Given the description of an element on the screen output the (x, y) to click on. 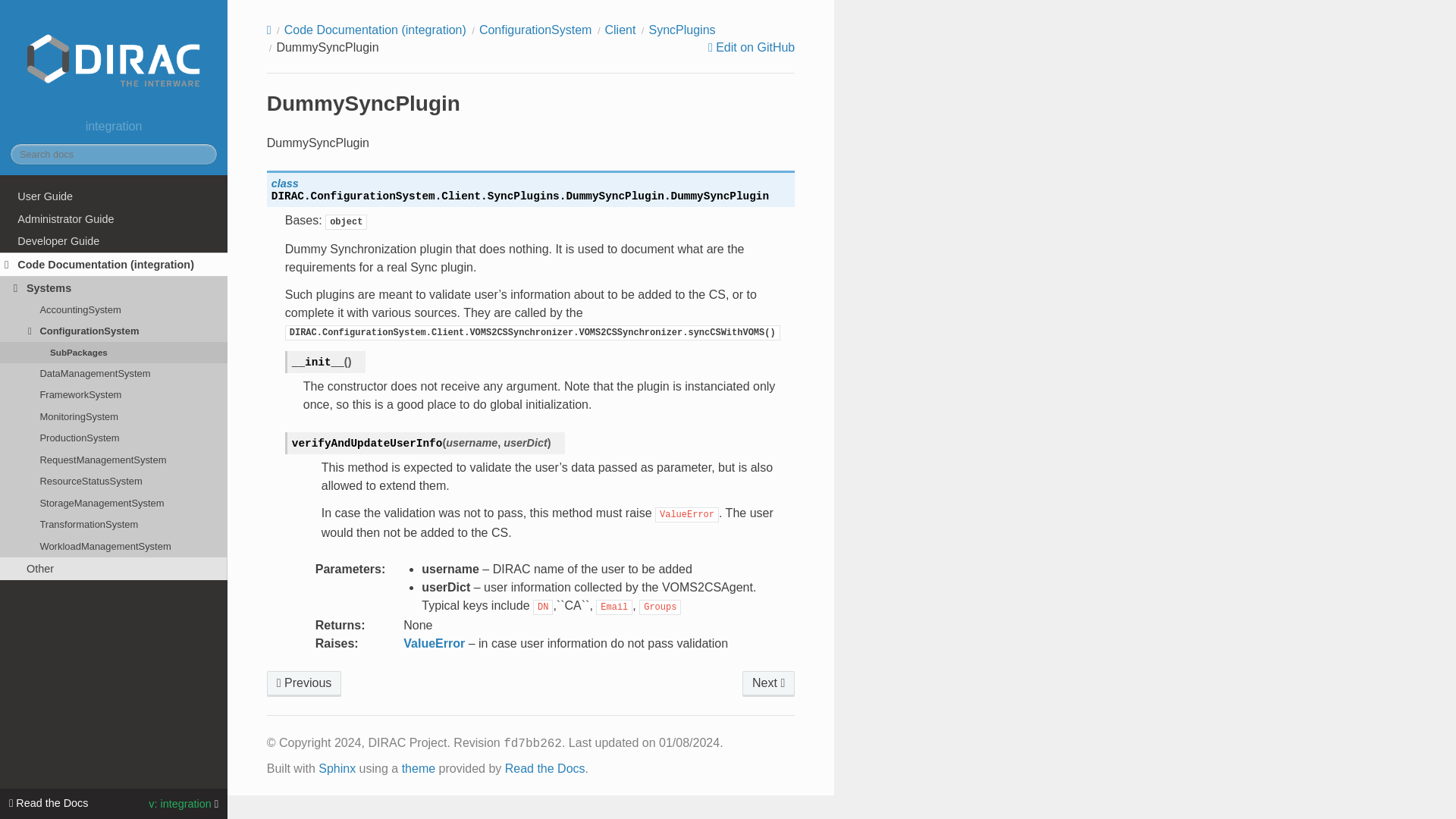
CERNLDAPSyncPlugin (304, 683)
WorkloadManagementSystem (113, 546)
Previous (304, 683)
theme (418, 768)
ProductionSystem (113, 437)
Systems (113, 287)
ConfigurationSystem (535, 29)
AccountingSystem (113, 309)
Sphinx (336, 768)
DataManagementSystem (113, 373)
CSAPI (768, 683)
ValueError (433, 643)
SyncPlugins (680, 29)
Administrator Guide (113, 219)
Edit on GitHub (750, 47)
